Given the description of an element on the screen output the (x, y) to click on. 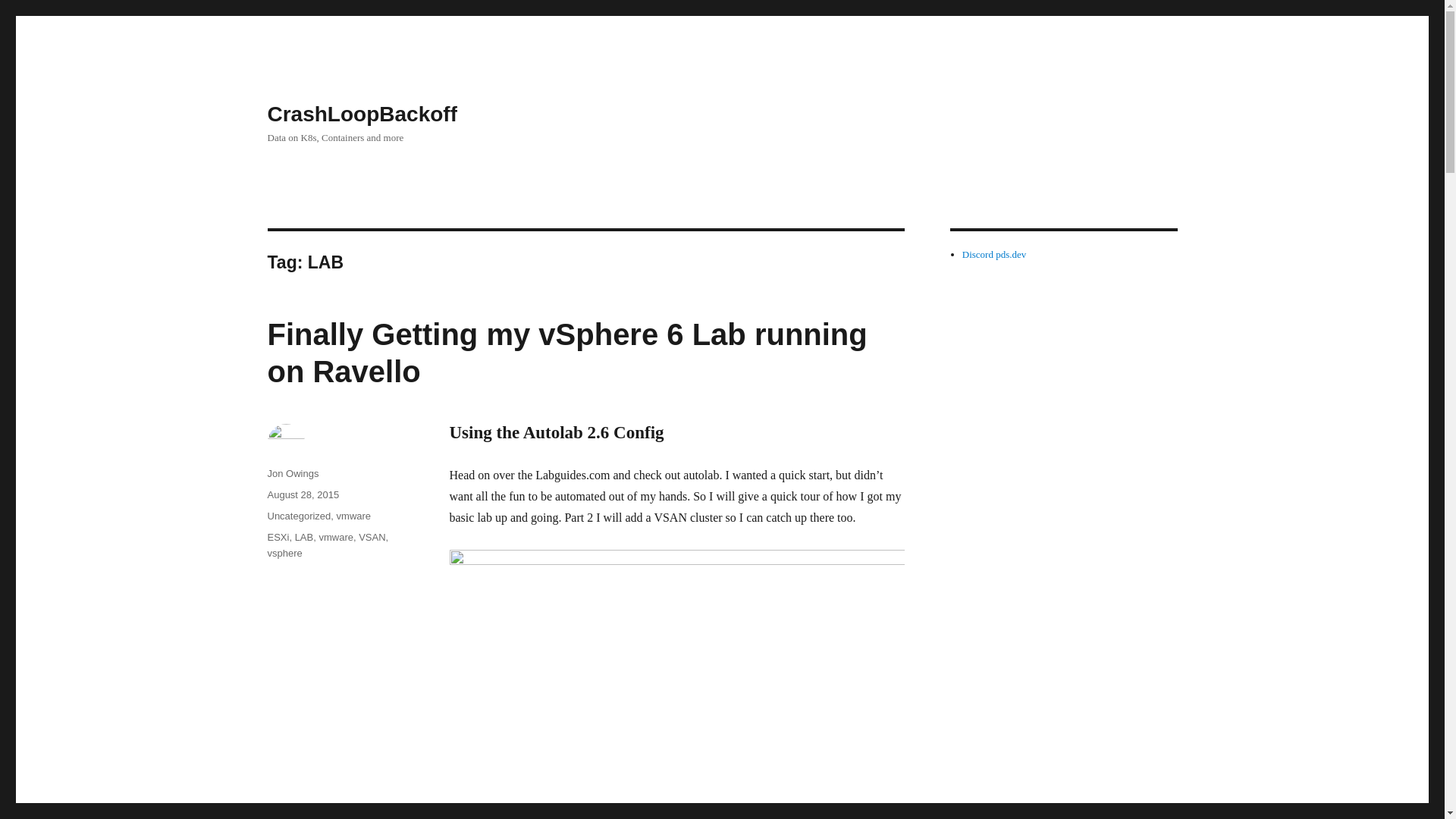
VSAN (371, 536)
August 28, 2015 (302, 494)
Discord pds.dev (994, 254)
LAB (304, 536)
CrashLoopBackoff (361, 114)
ESXi (277, 536)
Jon Owings (292, 473)
vmware (353, 515)
Uncategorized (298, 515)
Finally Getting my vSphere 6 Lab running on Ravello (566, 352)
vmware (335, 536)
vsphere (283, 552)
